Given the description of an element on the screen output the (x, y) to click on. 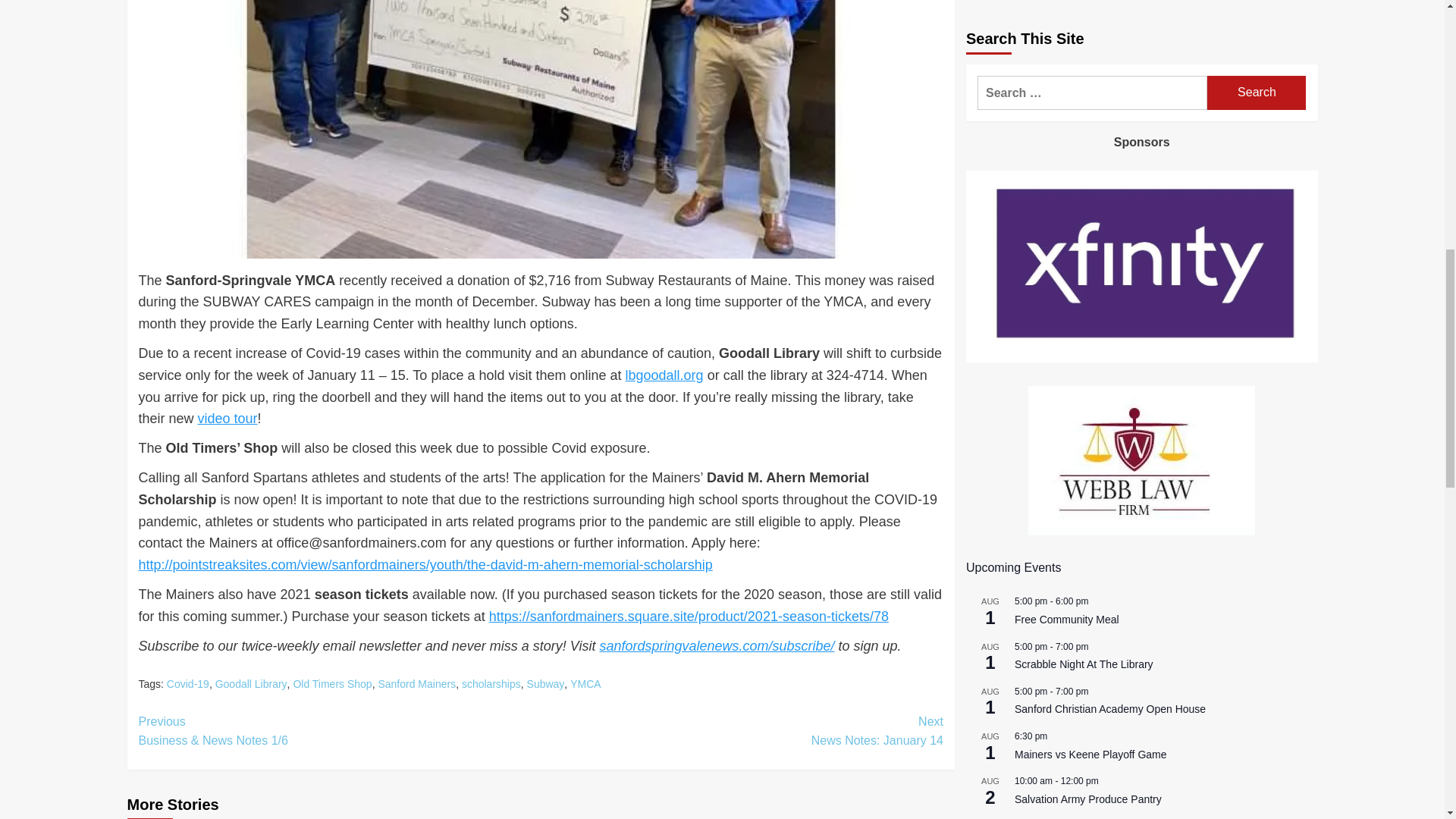
video tour (227, 418)
Covid-19 (188, 684)
Sanford Christian Academy Open House (1109, 245)
Free Community Meal (1066, 155)
lbgoodall.org (664, 375)
Mainers vs Keene Playoff Game (1090, 291)
View more events. (1000, 368)
Salvation Army Produce Pantry (1087, 336)
Scrabble Night At The Library (1083, 201)
